Given the description of an element on the screen output the (x, y) to click on. 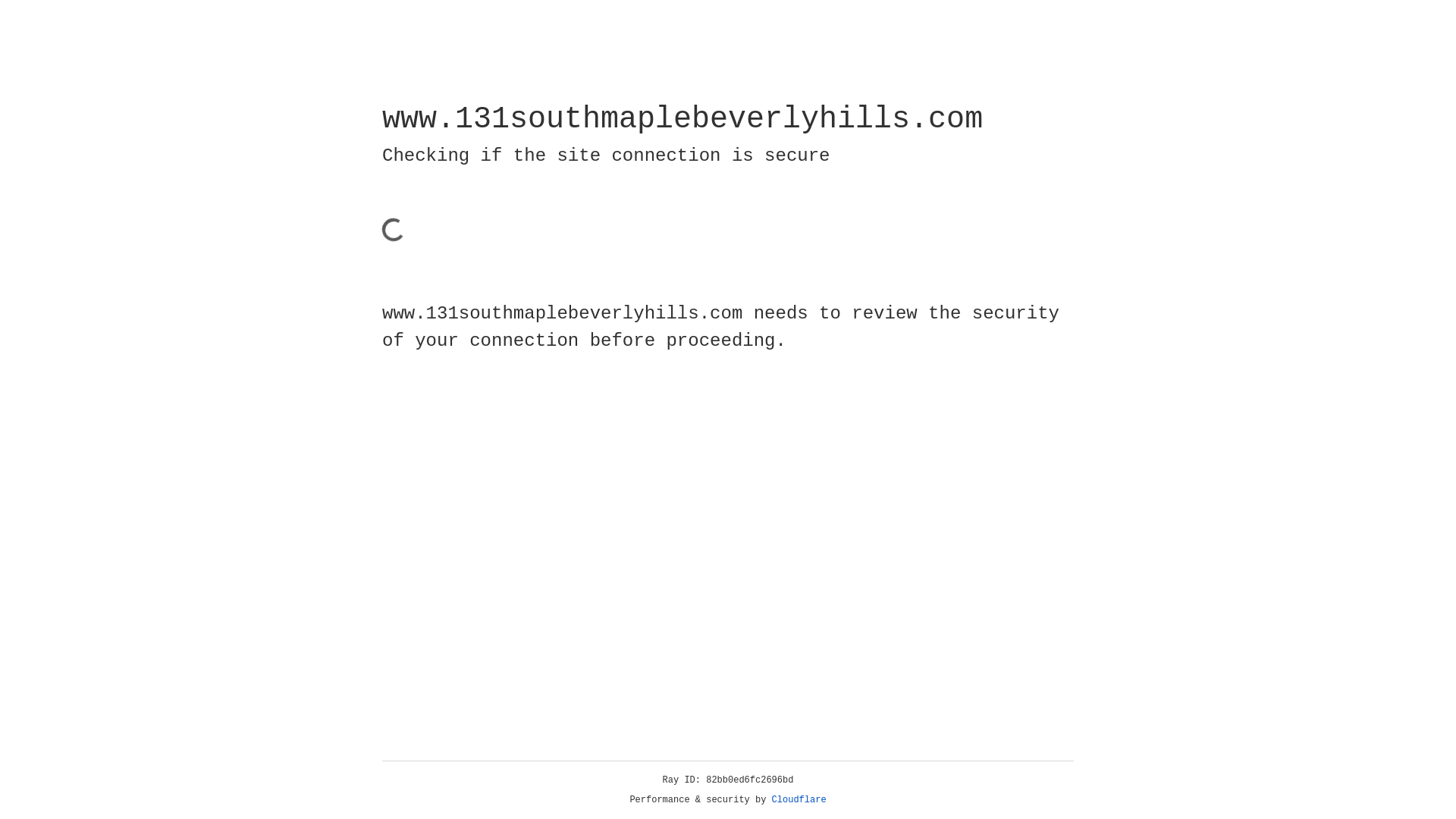
Cloudflare Element type: text (798, 799)
